Given the description of an element on the screen output the (x, y) to click on. 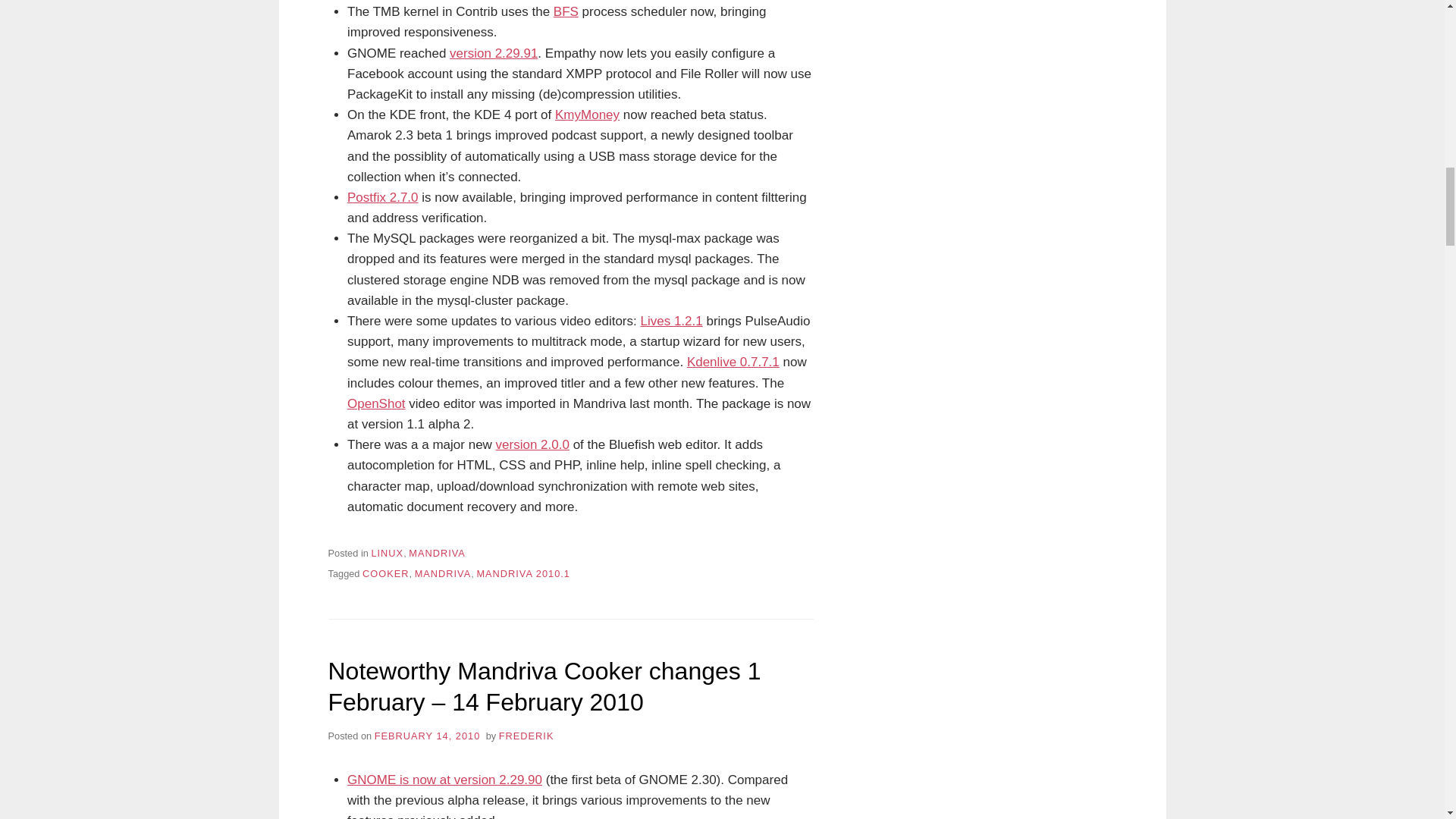
BFS (565, 11)
